Given the description of an element on the screen output the (x, y) to click on. 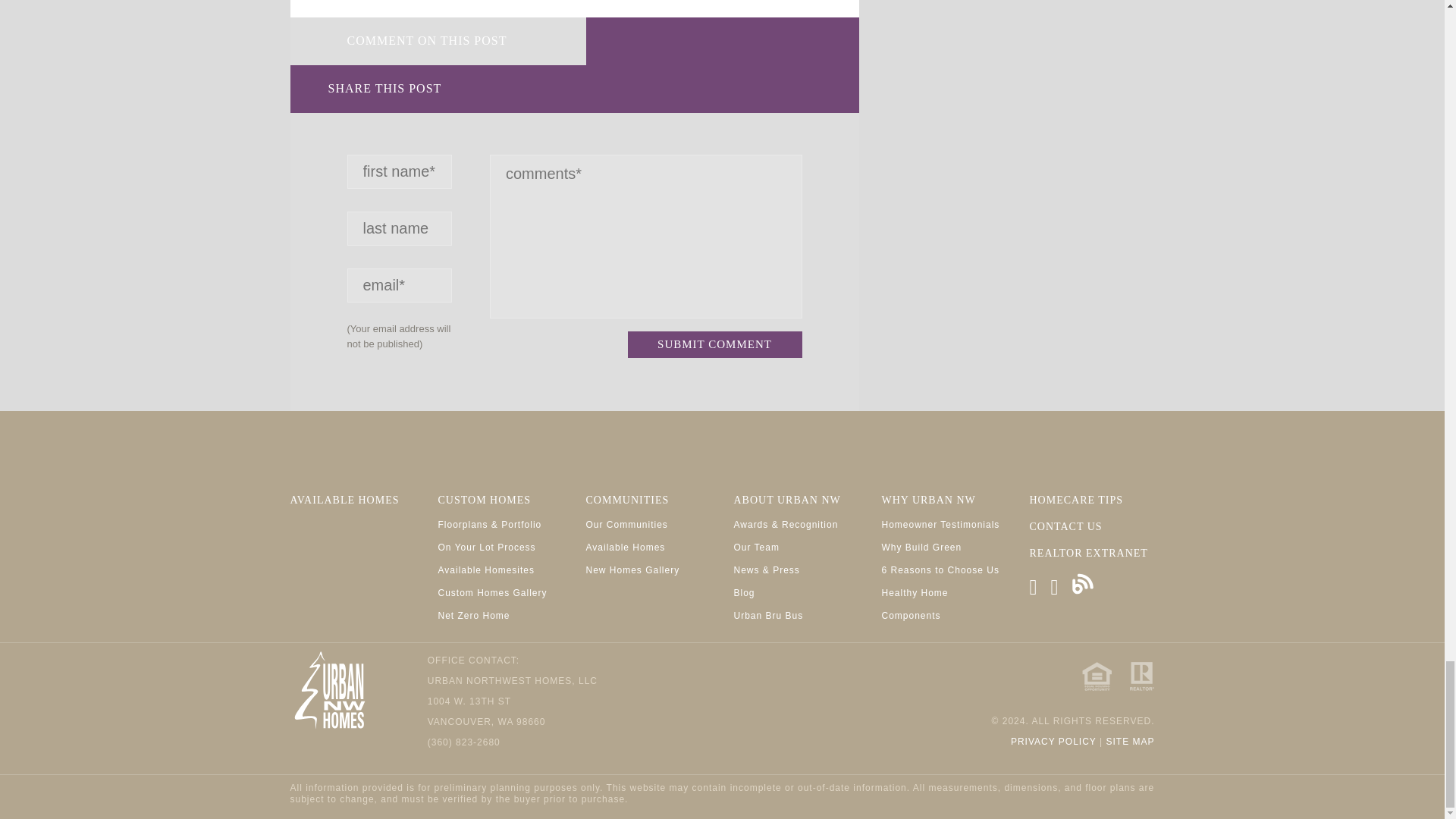
submit comment (714, 344)
SHARE THIS POST (437, 89)
CUSTOM HOMES (484, 500)
submit comment (714, 344)
COMMENT ON THIS POST (437, 41)
AVAILABLE HOMES (343, 500)
